Given the description of an element on the screen output the (x, y) to click on. 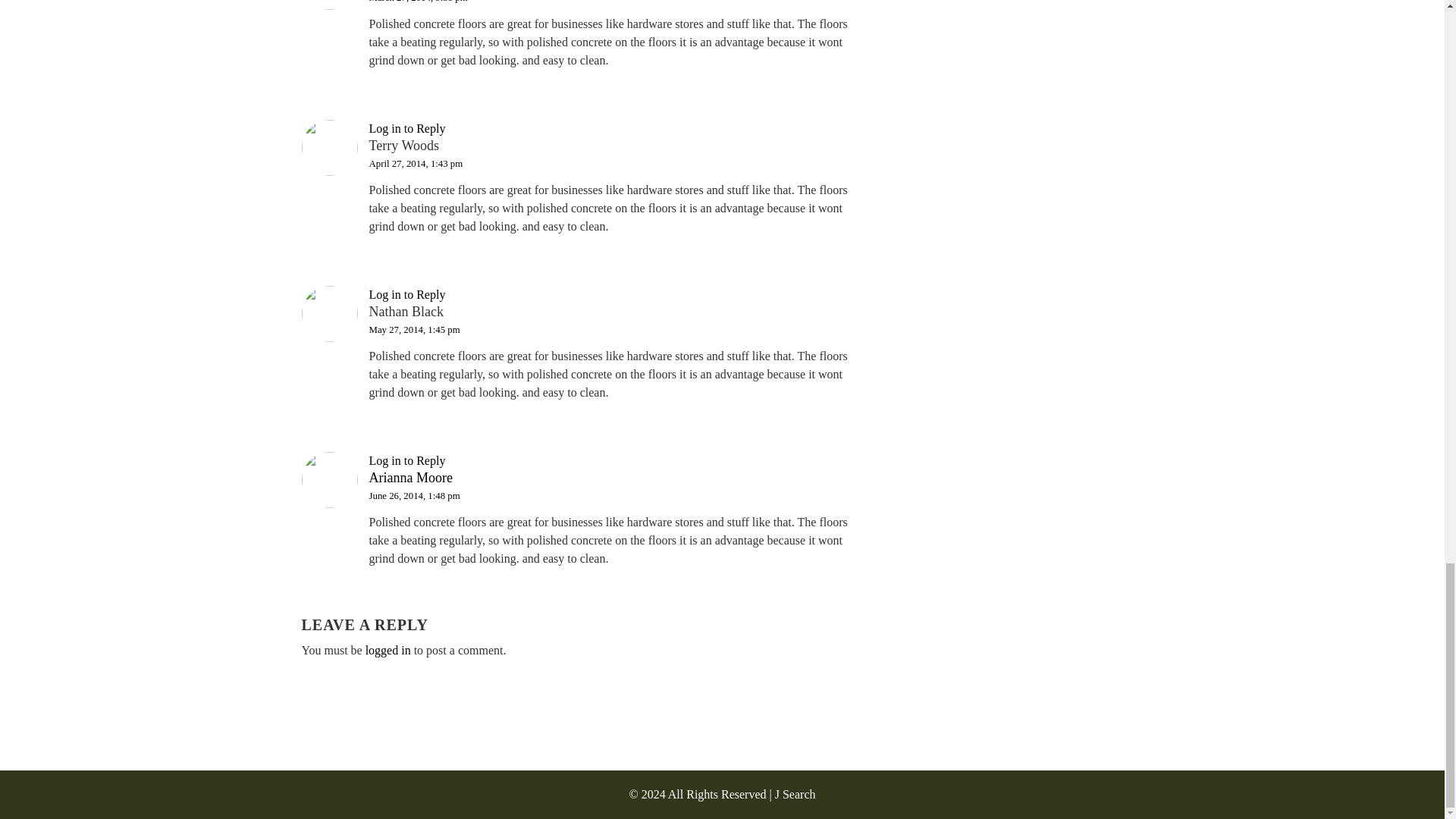
March 27, 2014, 9:38 pm (417, 1)
April 27, 2014, 1:43 pm (415, 162)
Log in to Reply (406, 294)
Log in to Reply (406, 128)
